Given the description of an element on the screen output the (x, y) to click on. 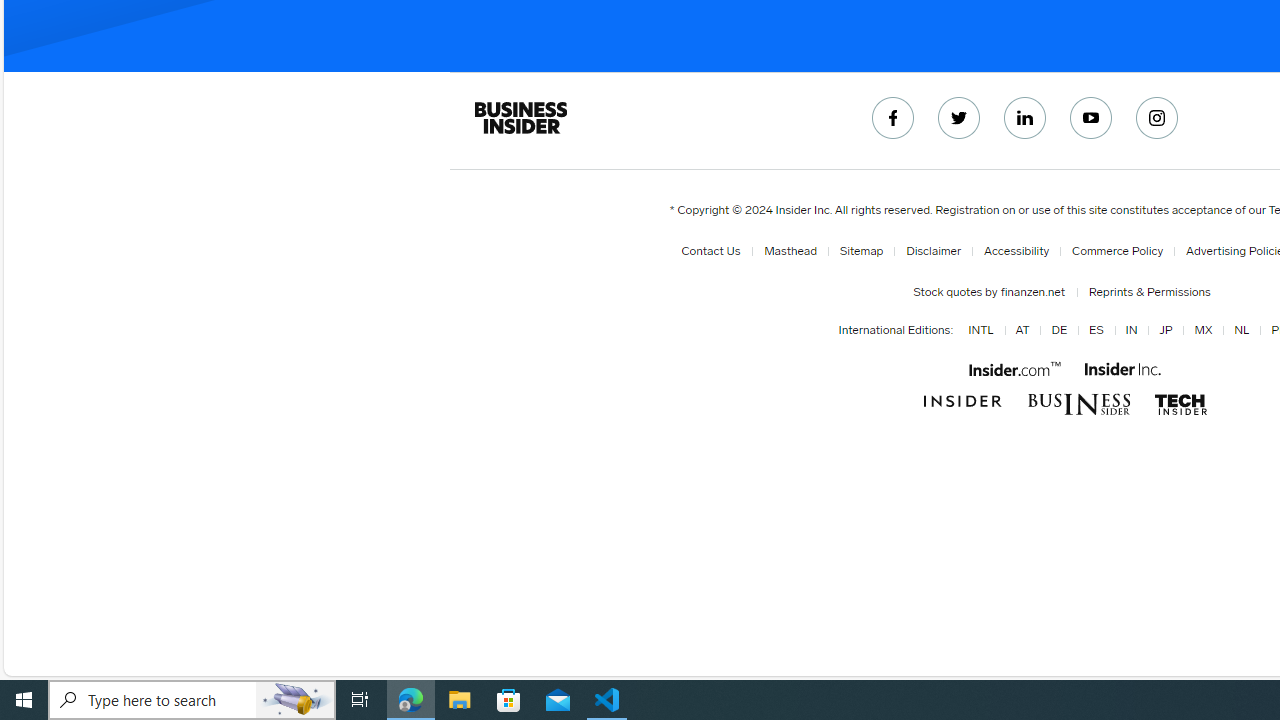
Sitemap (861, 251)
NL (1238, 331)
Connect with us on LinkedIn (1025, 117)
Masthead (790, 251)
Sitemap (857, 251)
MX (1203, 331)
Masthead (786, 251)
Click to visit us on Twitter (959, 117)
Insider (962, 401)
Business Insider DE Logo (1078, 404)
MX (1199, 331)
Contact Us (710, 251)
Commerce Policy (1113, 251)
JP (1165, 331)
DE (1058, 331)
